Given the description of an element on the screen output the (x, y) to click on. 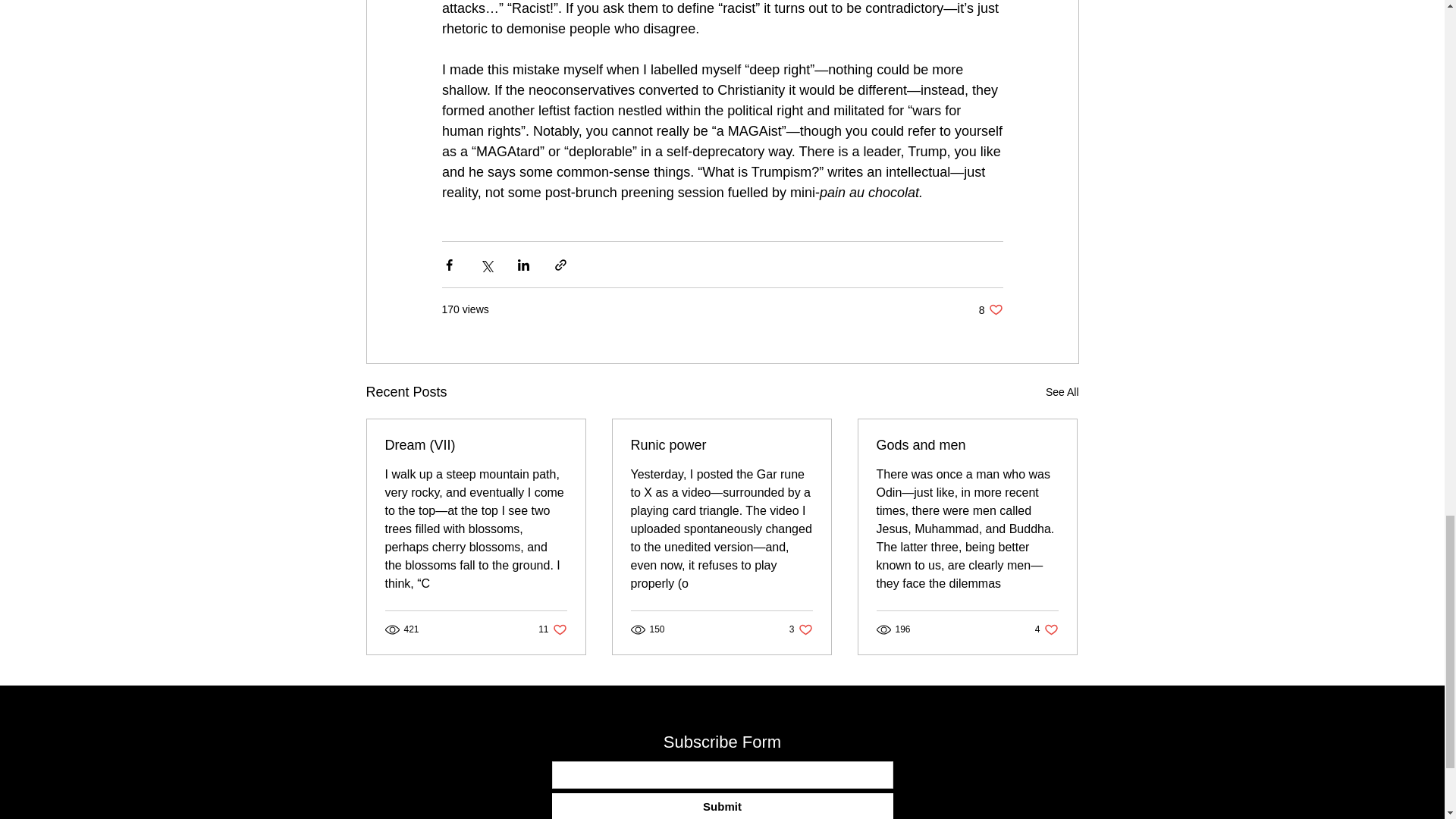
Gods and men (967, 445)
See All (990, 309)
Runic power (800, 628)
Submit (552, 628)
